Given the description of an element on the screen output the (x, y) to click on. 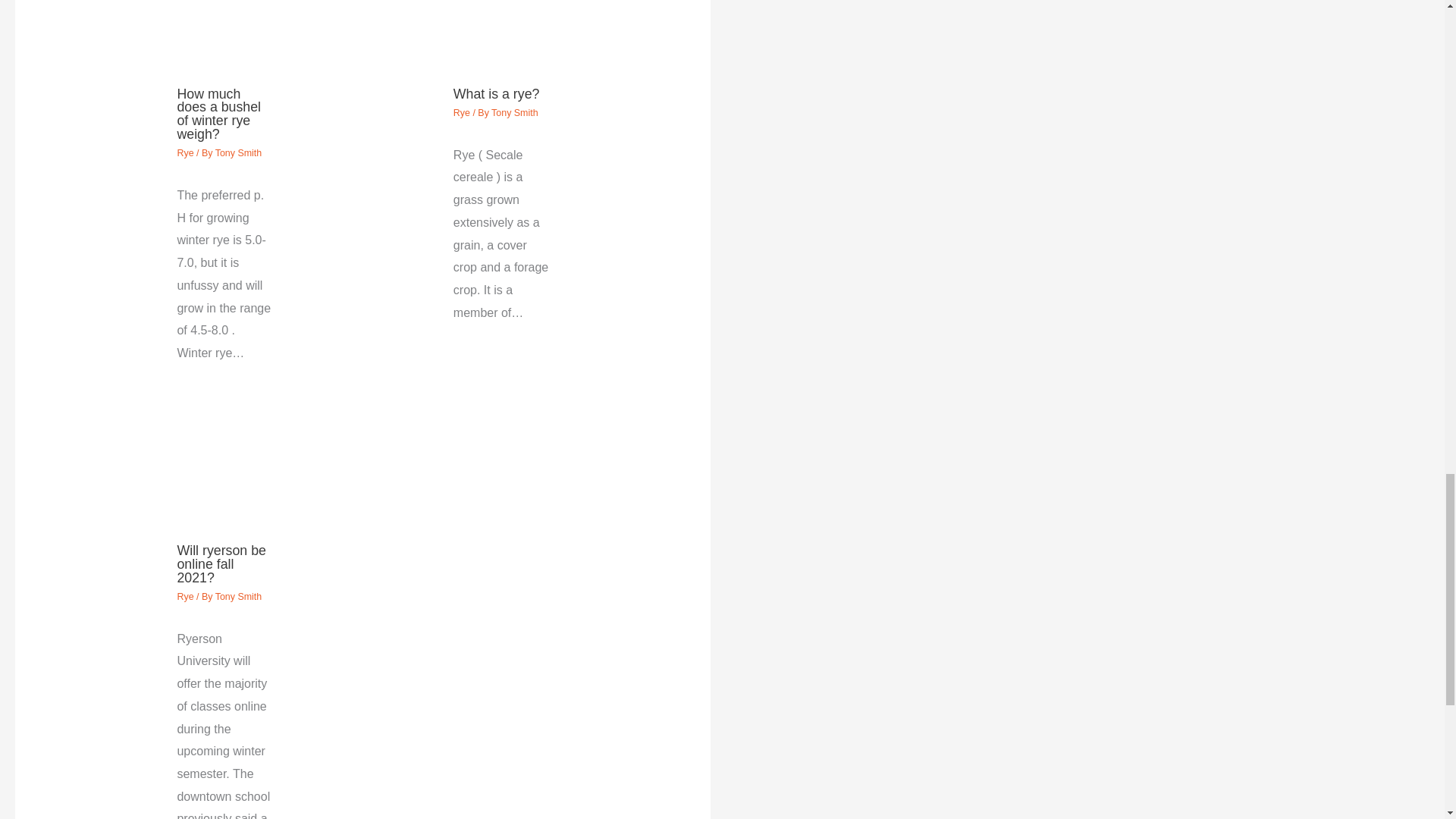
Tony Smith (238, 153)
What is a rye? (496, 93)
View all posts by Tony Smith (238, 153)
Rye (184, 596)
Tony Smith (238, 596)
Tony Smith (515, 112)
View all posts by Tony Smith (238, 596)
Rye (461, 112)
View all posts by Tony Smith (515, 112)
Rye (184, 153)
